Given the description of an element on the screen output the (x, y) to click on. 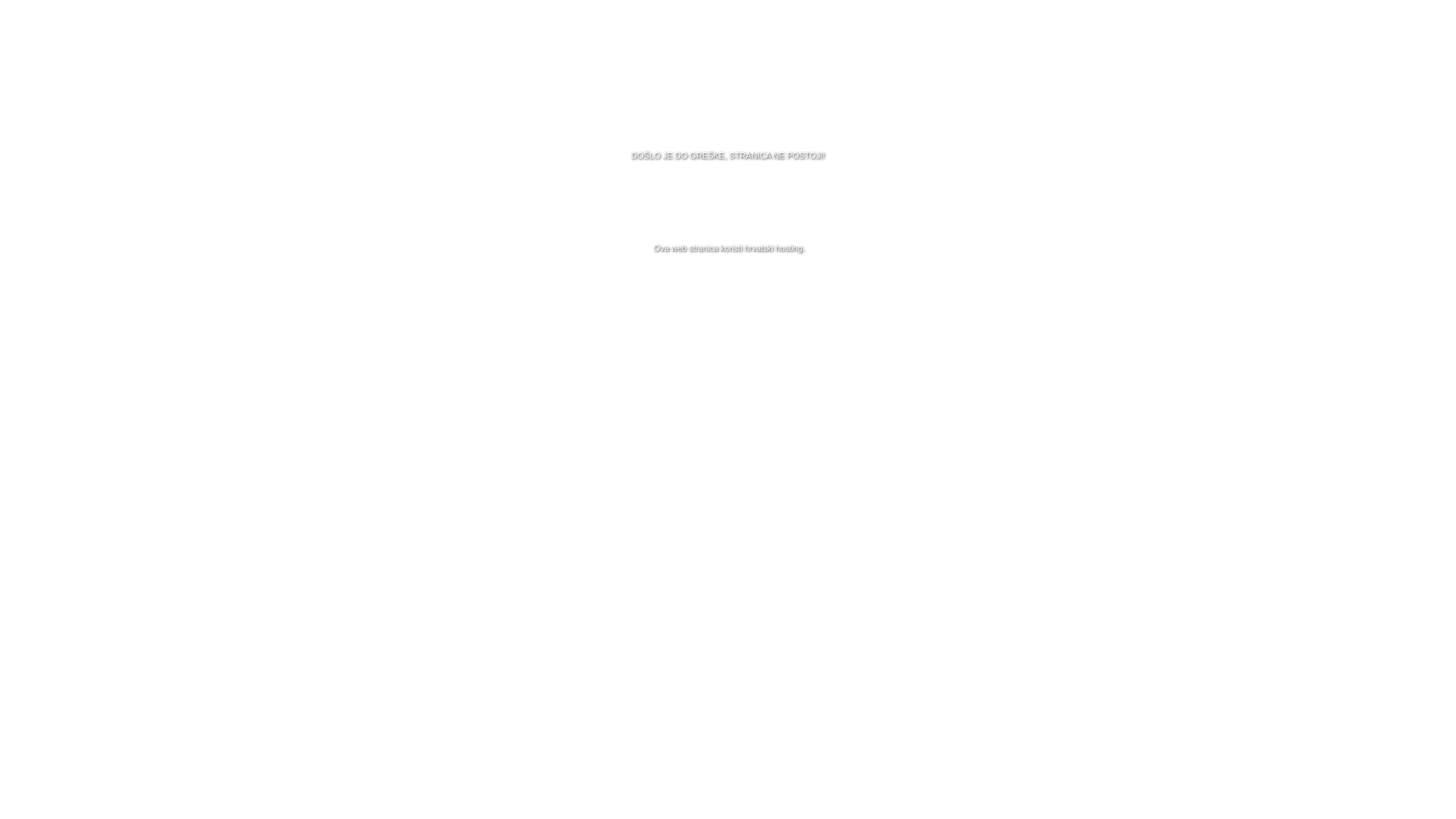
hrvatski hosting Element type: text (773, 247)
